Given the description of an element on the screen output the (x, y) to click on. 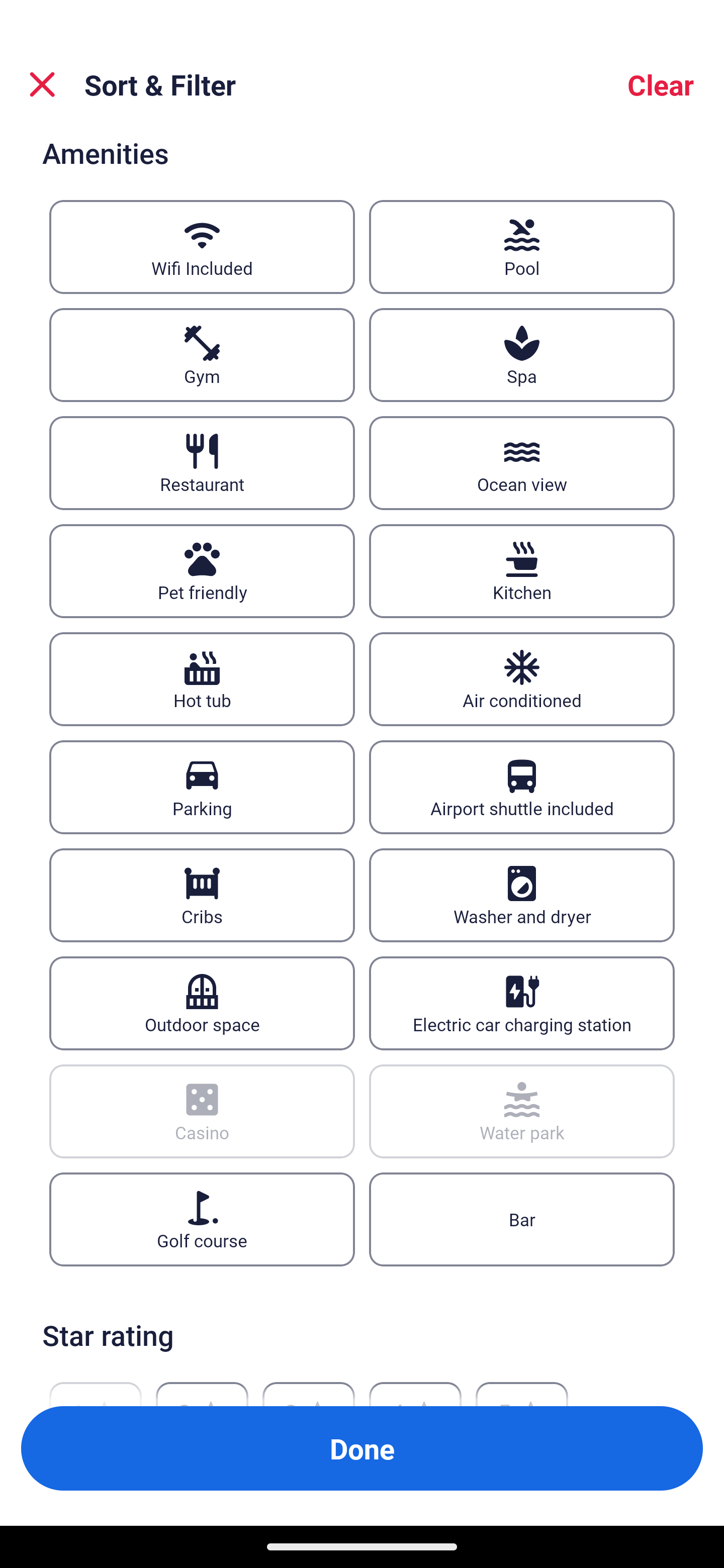
Close Sort and Filter (42, 84)
Clear (660, 84)
Wifi Included (201, 247)
Pool (521, 247)
Gym (201, 354)
Spa (521, 354)
Restaurant (201, 462)
Ocean view (521, 462)
Pet friendly (201, 570)
Kitchen (521, 570)
Hot tub (201, 678)
Air conditioned (521, 678)
Parking (201, 787)
Airport shuttle included (521, 787)
Cribs (201, 895)
Washer and dryer (521, 895)
Outdoor space (201, 1003)
Electric car charging station (521, 1003)
Casino (201, 1111)
Water park (521, 1111)
Golf course (201, 1219)
Bar (521, 1219)
Apply and close Sort and Filter Done (361, 1448)
